Given the description of an element on the screen output the (x, y) to click on. 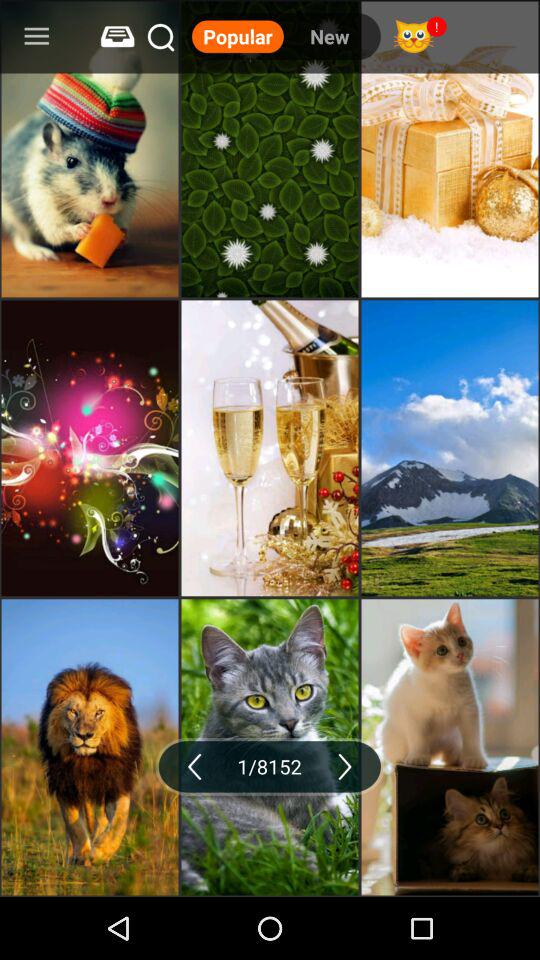
click the fourth image (90, 447)
